Given the description of an element on the screen output the (x, y) to click on. 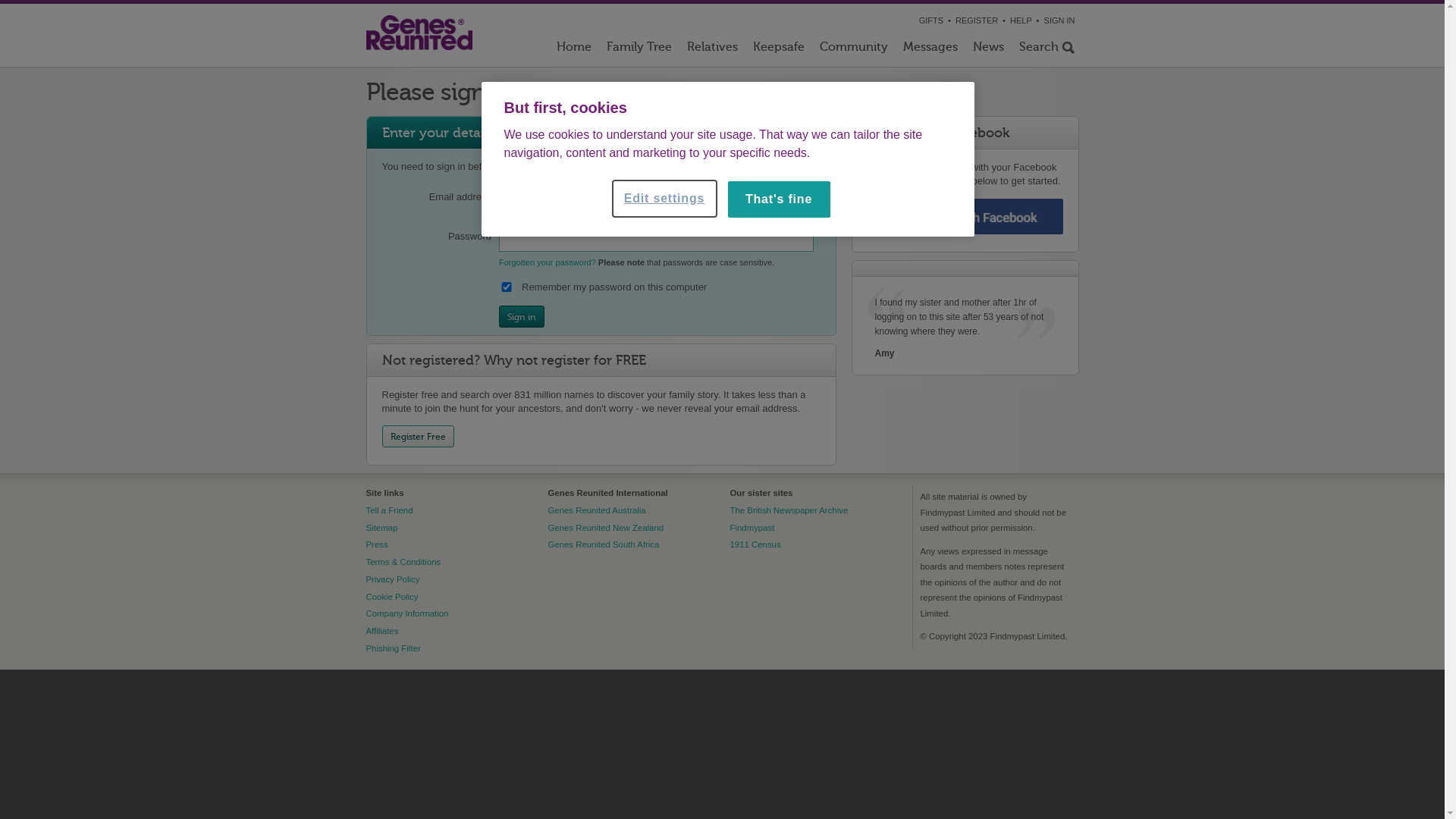
Privacy Policy Element type: text (392, 578)
REGISTER Element type: text (976, 20)
Cookie Policy Element type: text (391, 596)
Genes Reunited New Zealand Element type: text (605, 527)
Search Element type: text (1045, 50)
Terms & Conditions Element type: text (402, 561)
SIGN IN Element type: text (1059, 20)
Keepsafe Element type: text (777, 50)
Messages Element type: text (929, 50)
Forgotten your password? Element type: text (547, 261)
Phishing Filter Element type: text (392, 647)
Home Element type: text (574, 50)
Tell a Friend Element type: text (388, 509)
Findmypast Element type: text (751, 527)
Press Element type: text (376, 544)
1911 Census Element type: text (754, 544)
Register Free Element type: text (418, 436)
Sitemap Element type: text (381, 527)
Sign in Element type: text (521, 316)
Family Tree Element type: text (639, 50)
Affiliates Element type: text (381, 630)
Genes Reunited South Africa Element type: text (602, 544)
Community Element type: text (852, 50)
That's fine Element type: text (779, 199)
HELP Element type: text (1021, 20)
GIFTS Element type: text (931, 20)
The British Newspaper Archive Element type: text (788, 509)
Edit settings Element type: text (663, 198)
Relatives Element type: text (712, 50)
Genes Reunited Australia Element type: text (596, 509)
News Element type: text (987, 50)
Company Information Element type: text (406, 613)
